Given the description of an element on the screen output the (x, y) to click on. 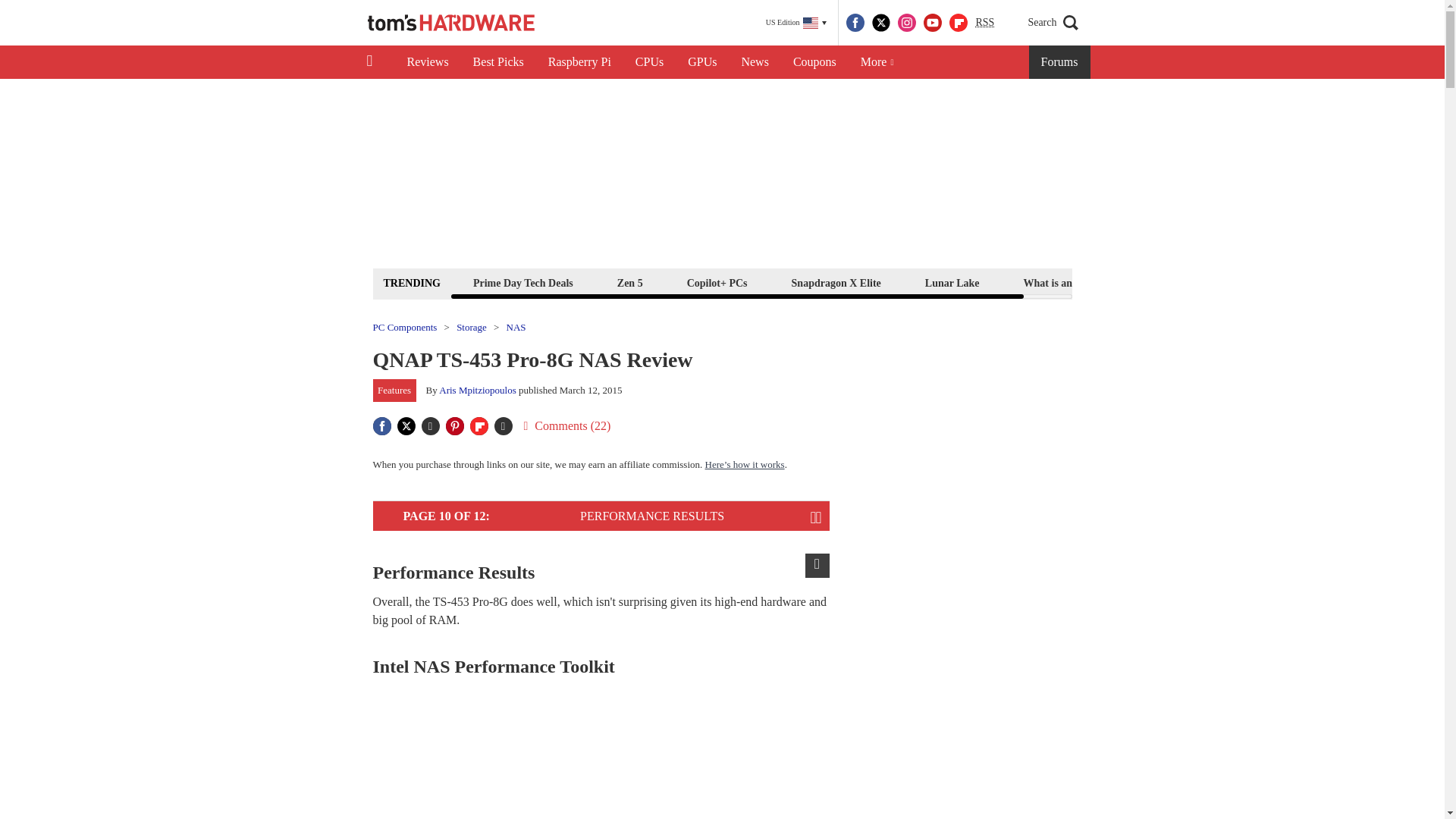
Really Simple Syndication (984, 21)
Raspberry Pi (579, 61)
Reviews (427, 61)
CPUs (649, 61)
Best Picks (498, 61)
RSS (984, 22)
Prime Day Tech Deals (522, 282)
US Edition (796, 22)
Coupons (814, 61)
GPUs (702, 61)
Forums (1059, 61)
News (754, 61)
